Given the description of an element on the screen output the (x, y) to click on. 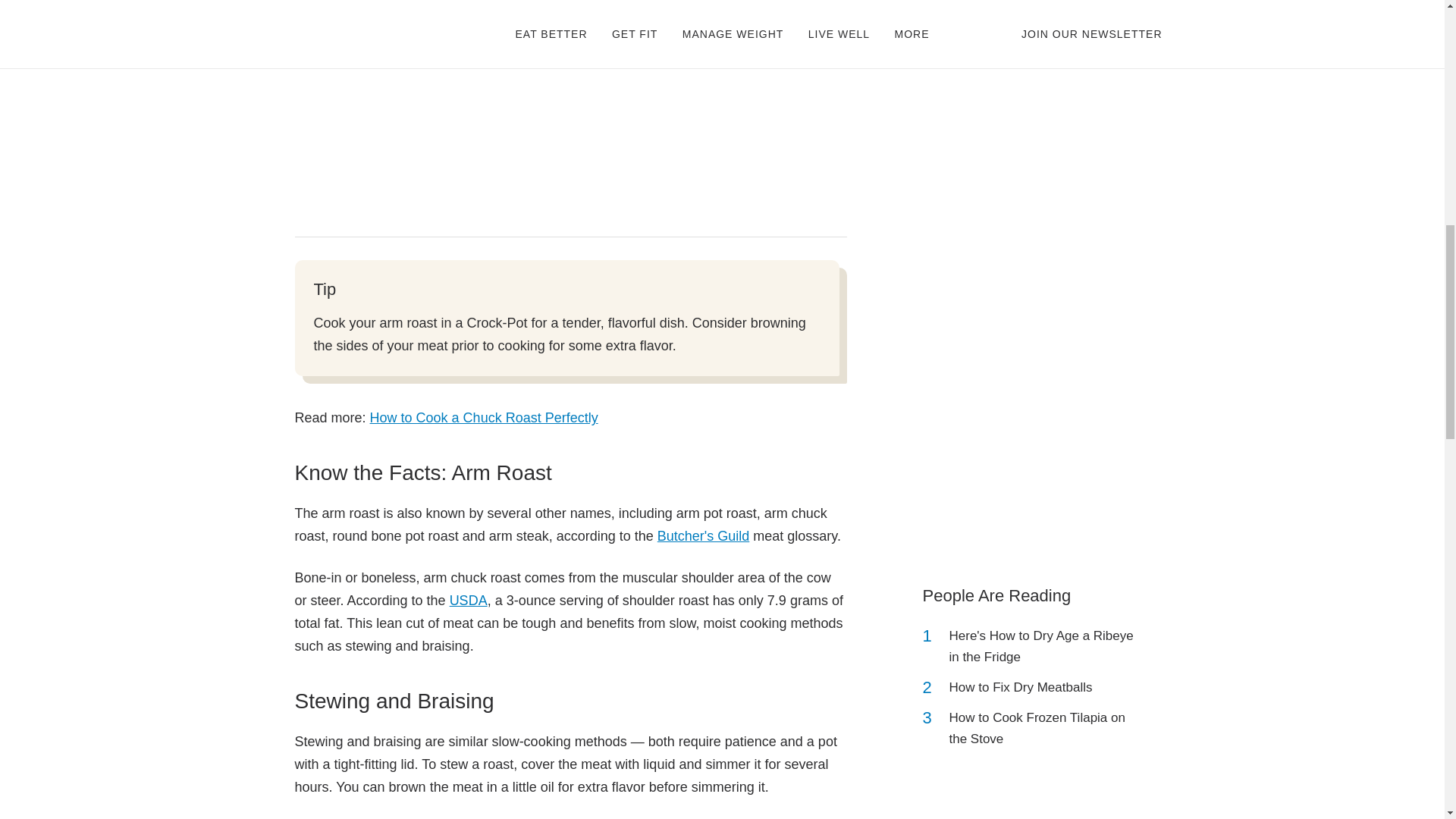
How to Cook a Chuck Roast Perfectly (483, 417)
How to Fix Dry Meatballs (1021, 687)
How to Cook Frozen Tilapia on the Stove (1042, 728)
Butcher's Guild (703, 535)
USDA (468, 600)
Here's How to Dry Age a Ribeye in the Fridge (1042, 646)
